Given the description of an element on the screen output the (x, y) to click on. 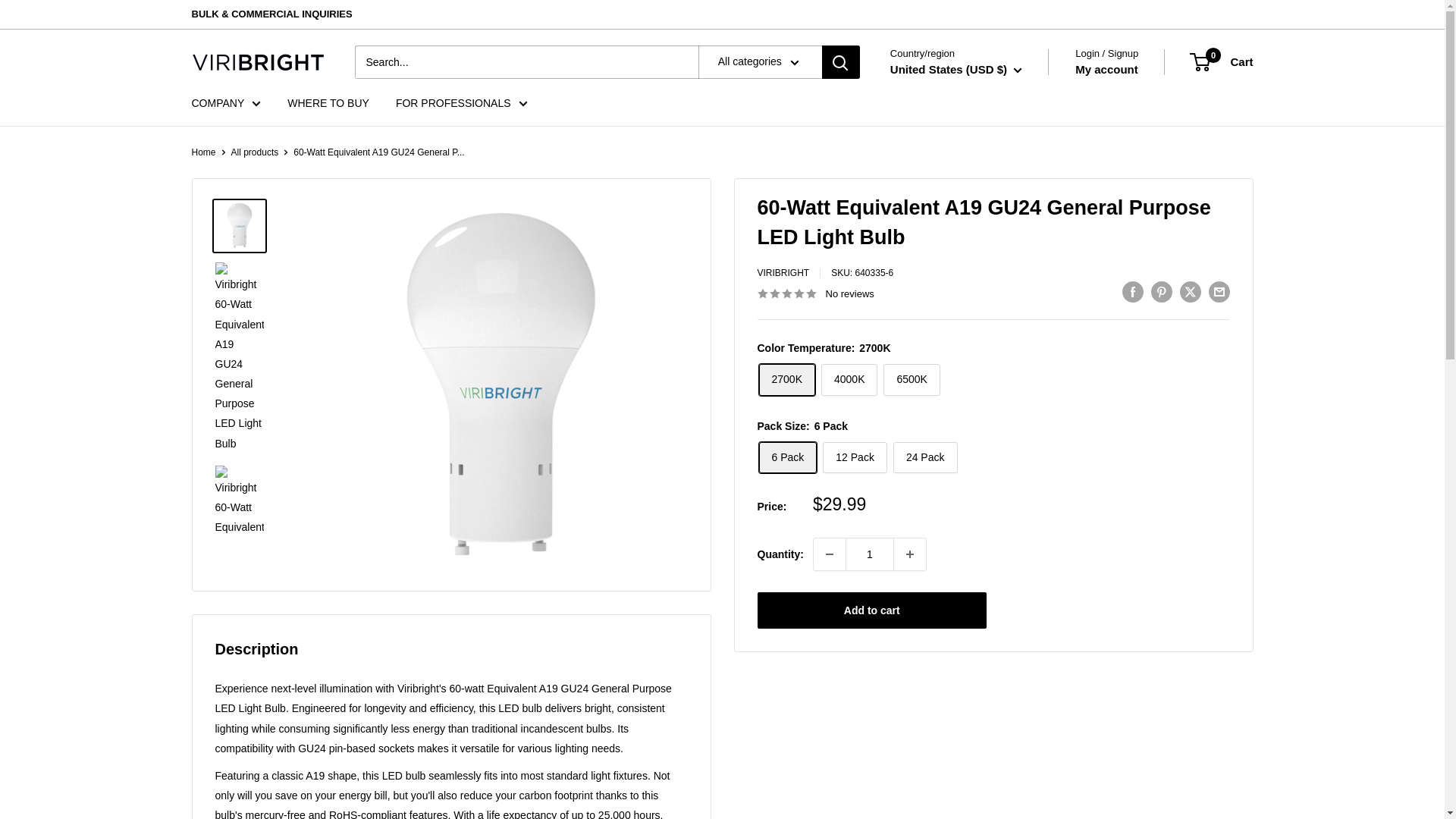
Decrease quantity by 1 (829, 554)
1 (869, 554)
2700K (785, 378)
24 Pack (925, 457)
Increase quantity by 1 (909, 554)
6500K (911, 378)
4000K (849, 378)
6 Pack (787, 457)
12 Pack (854, 457)
